Given the description of an element on the screen output the (x, y) to click on. 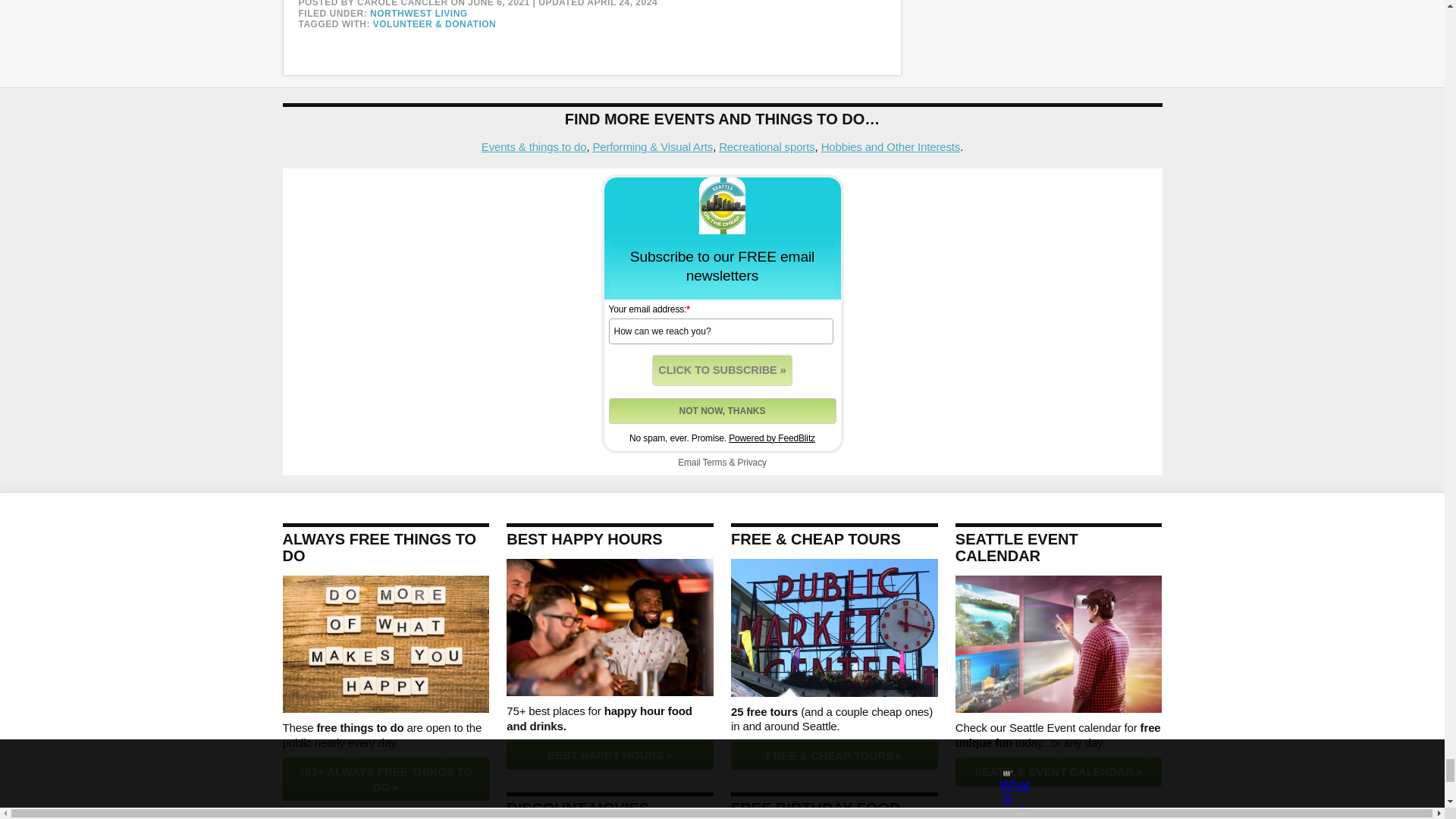
Hide this form for now (721, 411)
click to join (722, 369)
Not now, thanks (721, 411)
How can we reach you? (720, 330)
